Given the description of an element on the screen output the (x, y) to click on. 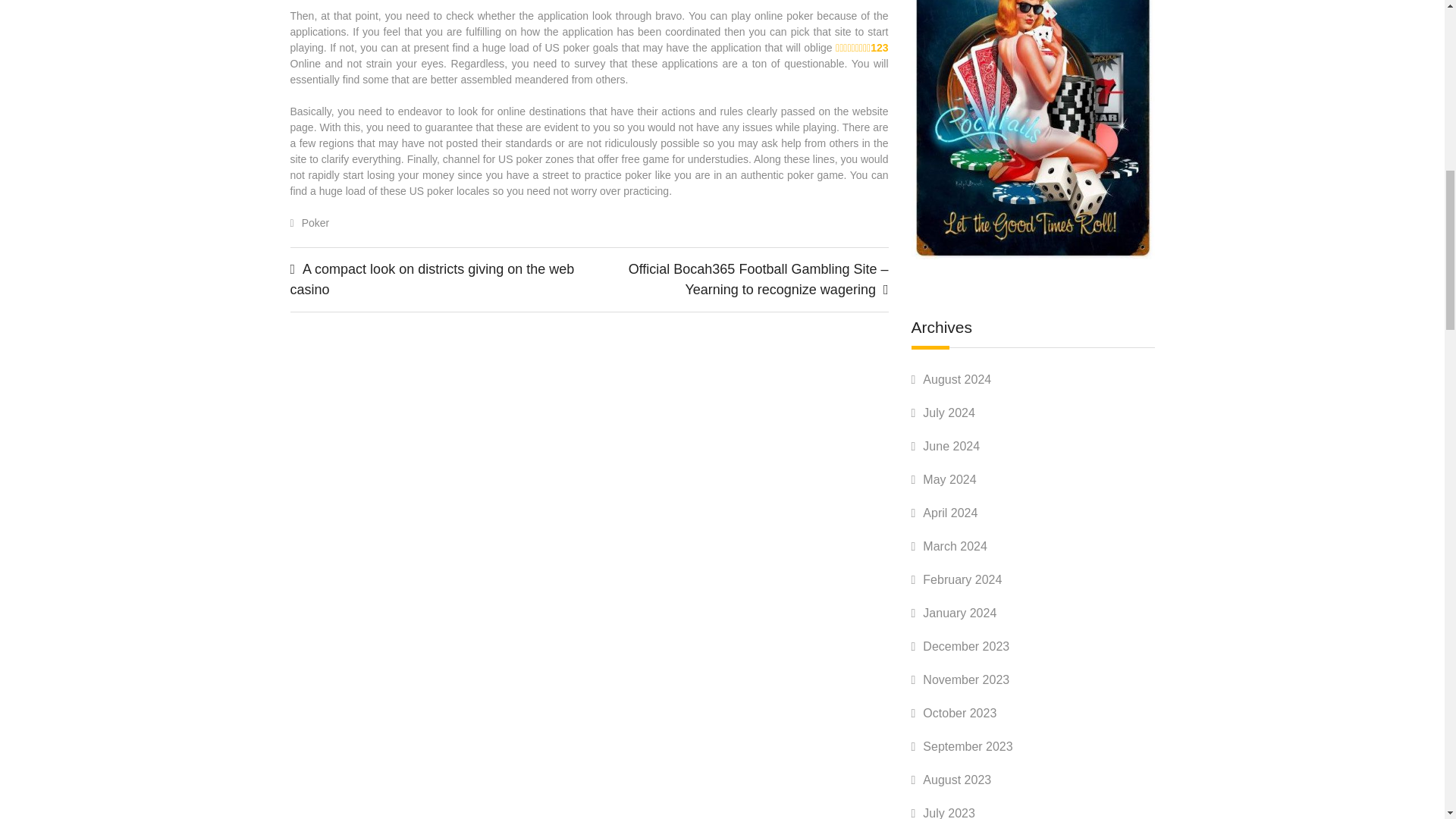
September 2023 (967, 746)
February 2024 (962, 579)
March 2024 (955, 545)
A compact look on districts giving on the web casino (431, 279)
August 2024 (957, 379)
Poker (315, 223)
July 2024 (949, 412)
May 2024 (949, 479)
November 2023 (966, 679)
December 2023 (966, 645)
